Given the description of an element on the screen output the (x, y) to click on. 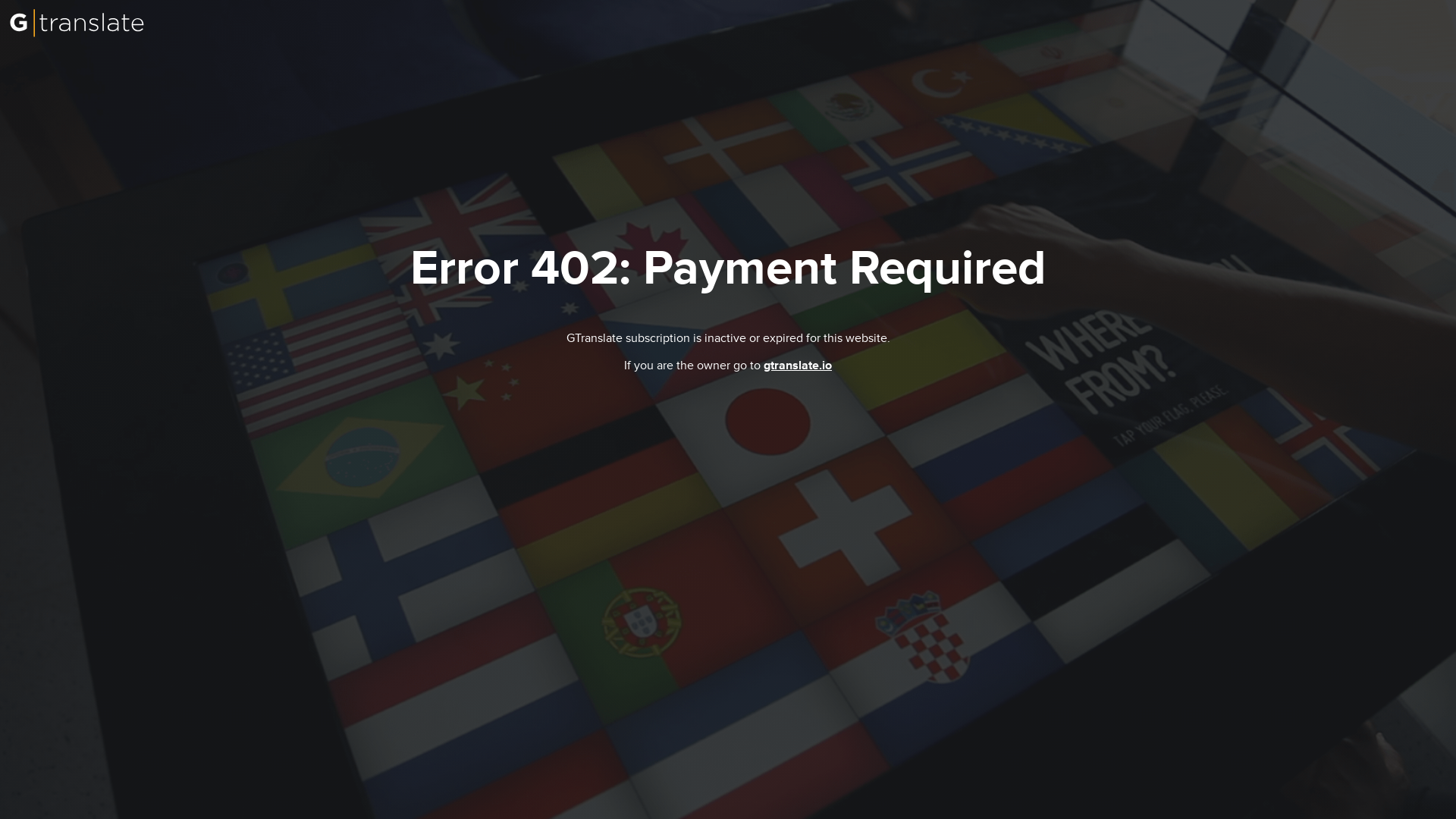
gtranslate.io Element type: text (797, 365)
